Given the description of an element on the screen output the (x, y) to click on. 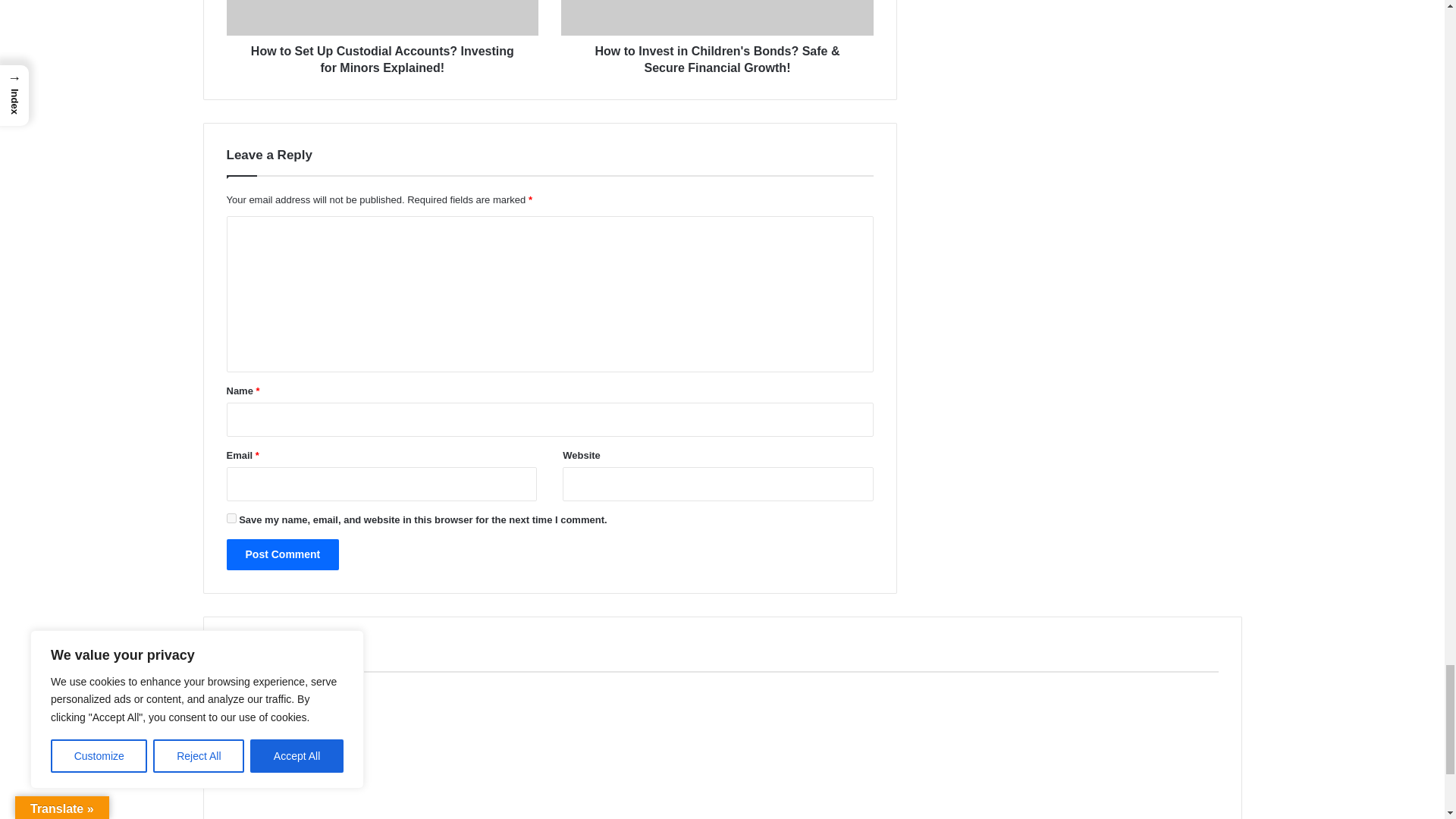
yes (230, 518)
Post Comment (282, 554)
